Given the description of an element on the screen output the (x, y) to click on. 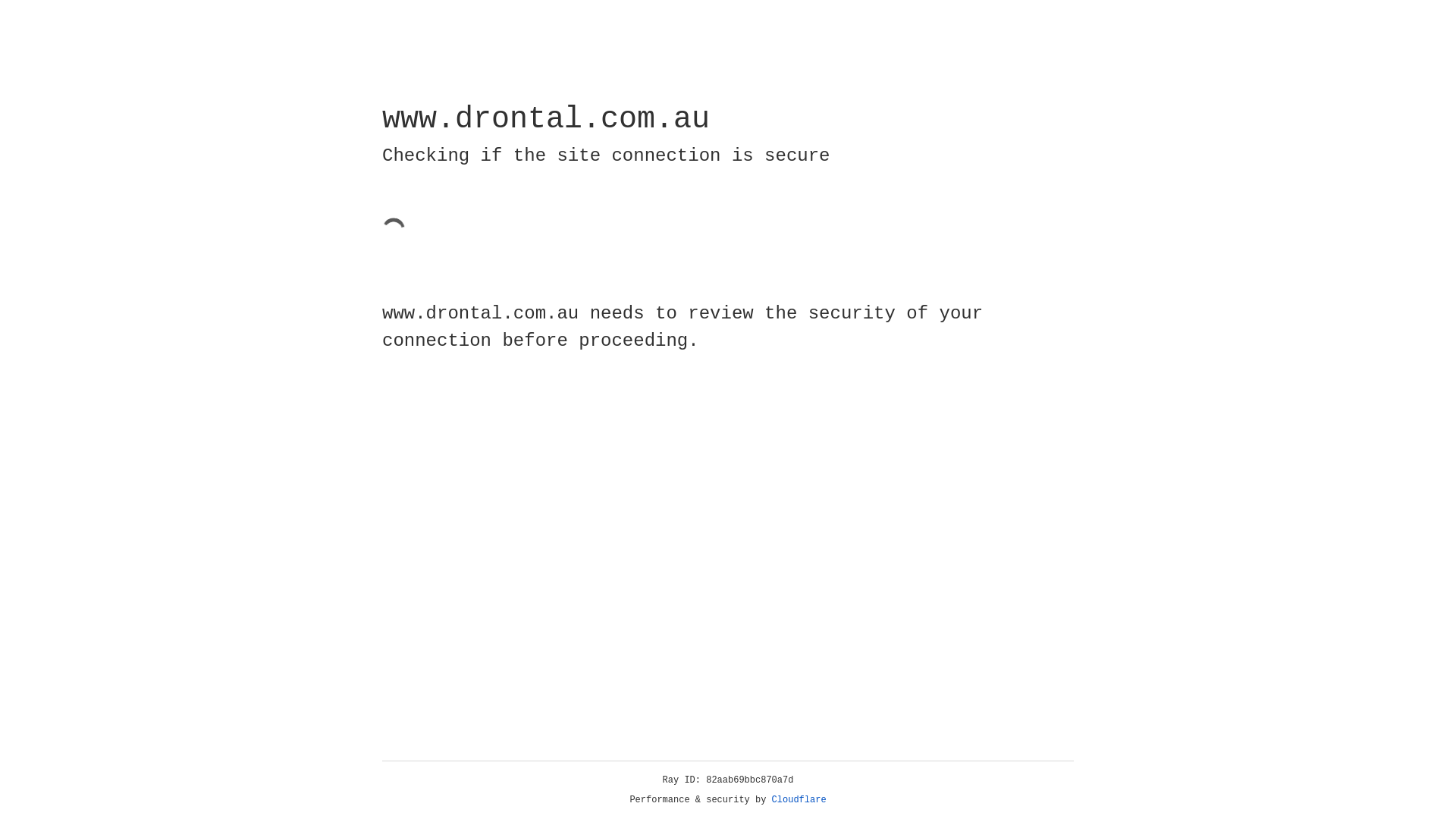
Cloudflare Element type: text (798, 799)
